Given the description of an element on the screen output the (x, y) to click on. 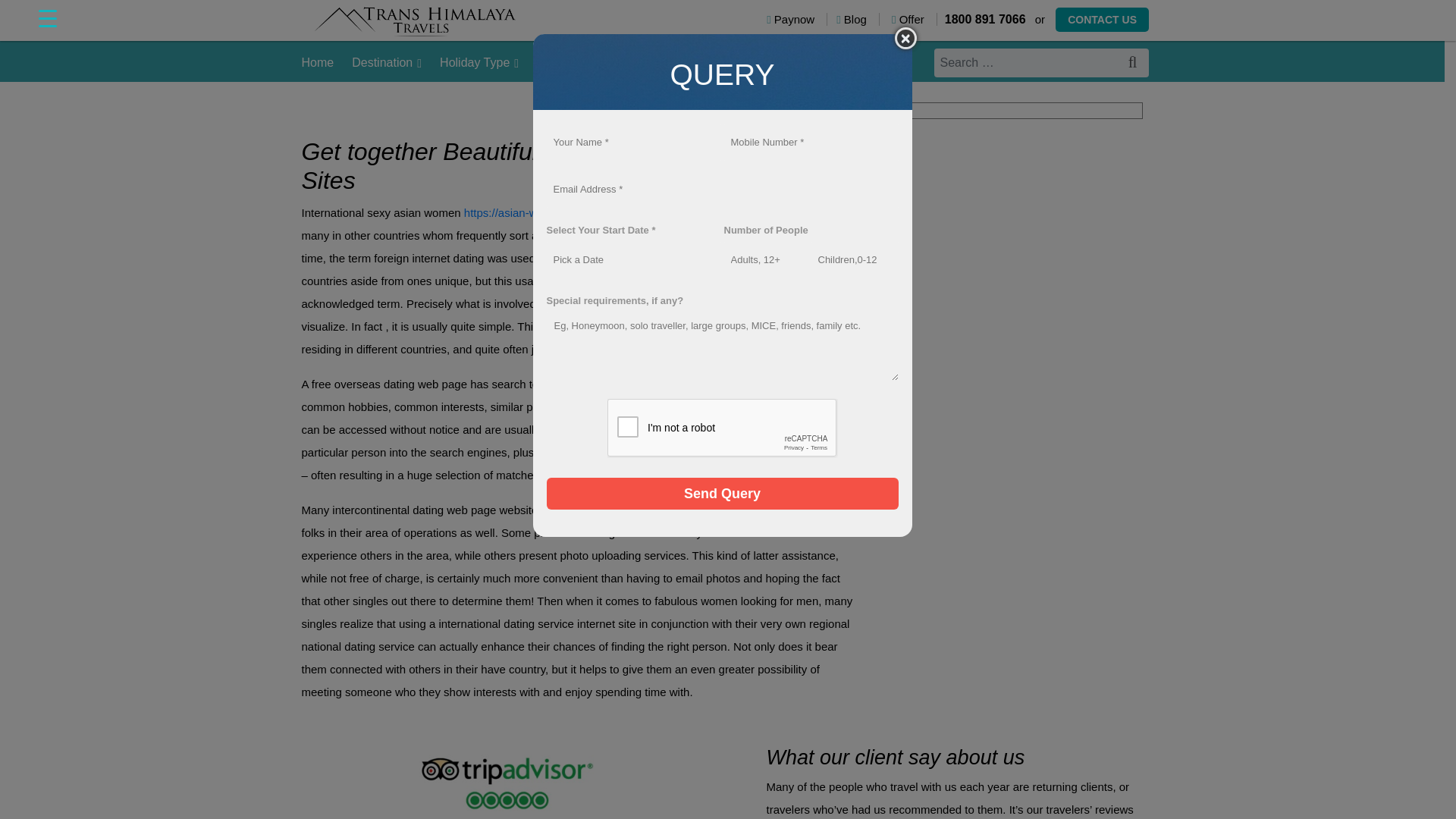
Contact Us (797, 62)
CONTACT US (1101, 19)
Blog (857, 19)
Trans Himalyas Travels (568, 33)
Destination (387, 62)
About Us (677, 62)
Send Query (722, 493)
Home (317, 62)
Holiday Type (478, 62)
Search for: (1041, 62)
reCAPTCHA (722, 427)
More (734, 62)
Offer (914, 19)
Paynow (797, 19)
